Given the description of an element on the screen output the (x, y) to click on. 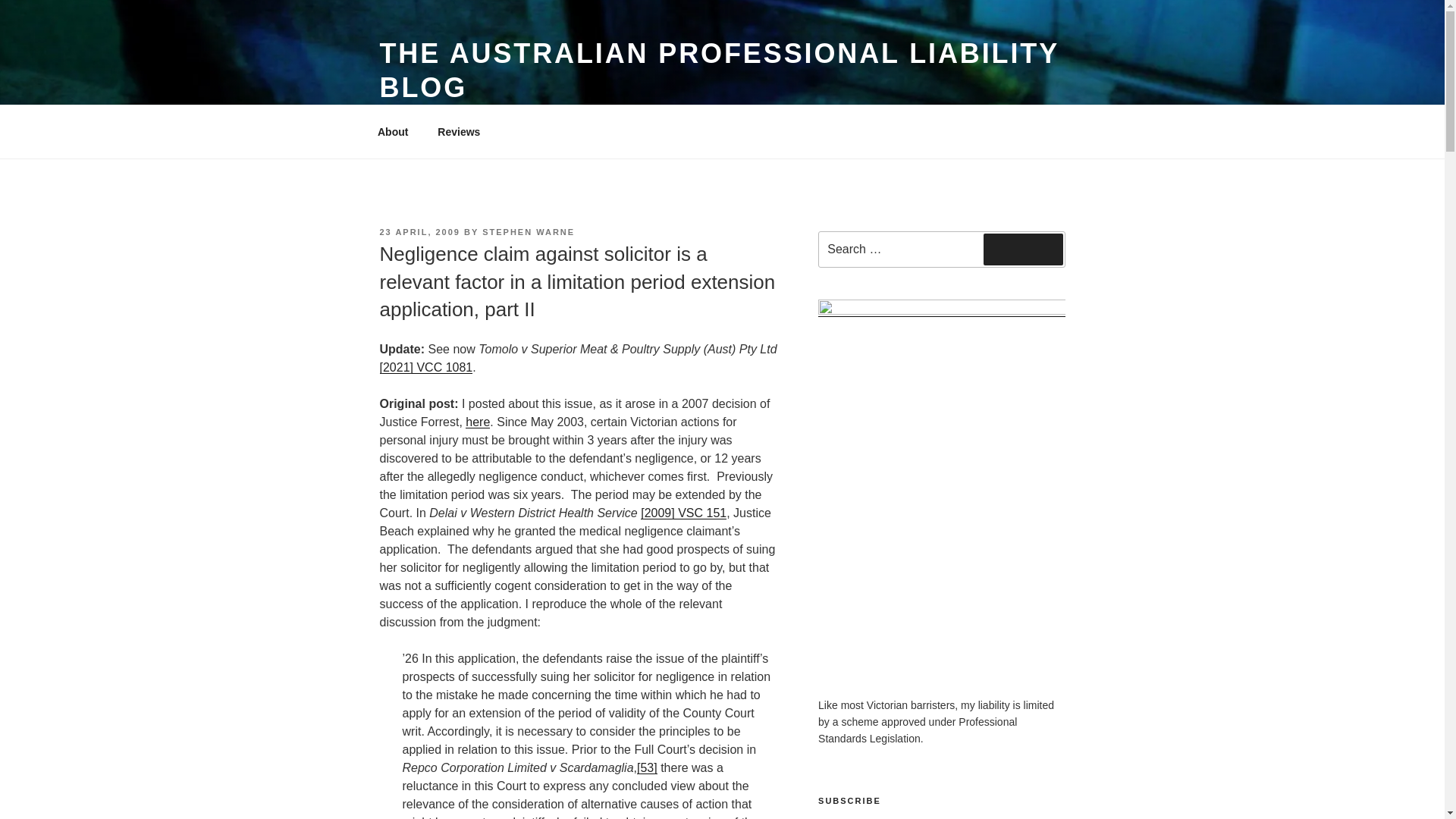
Reviews (459, 131)
THE AUSTRALIAN PROFESSIONAL LIABILITY BLOG (718, 70)
here (477, 421)
About (392, 131)
23 APRIL, 2009 (419, 231)
STEPHEN WARNE (528, 231)
